Given the description of an element on the screen output the (x, y) to click on. 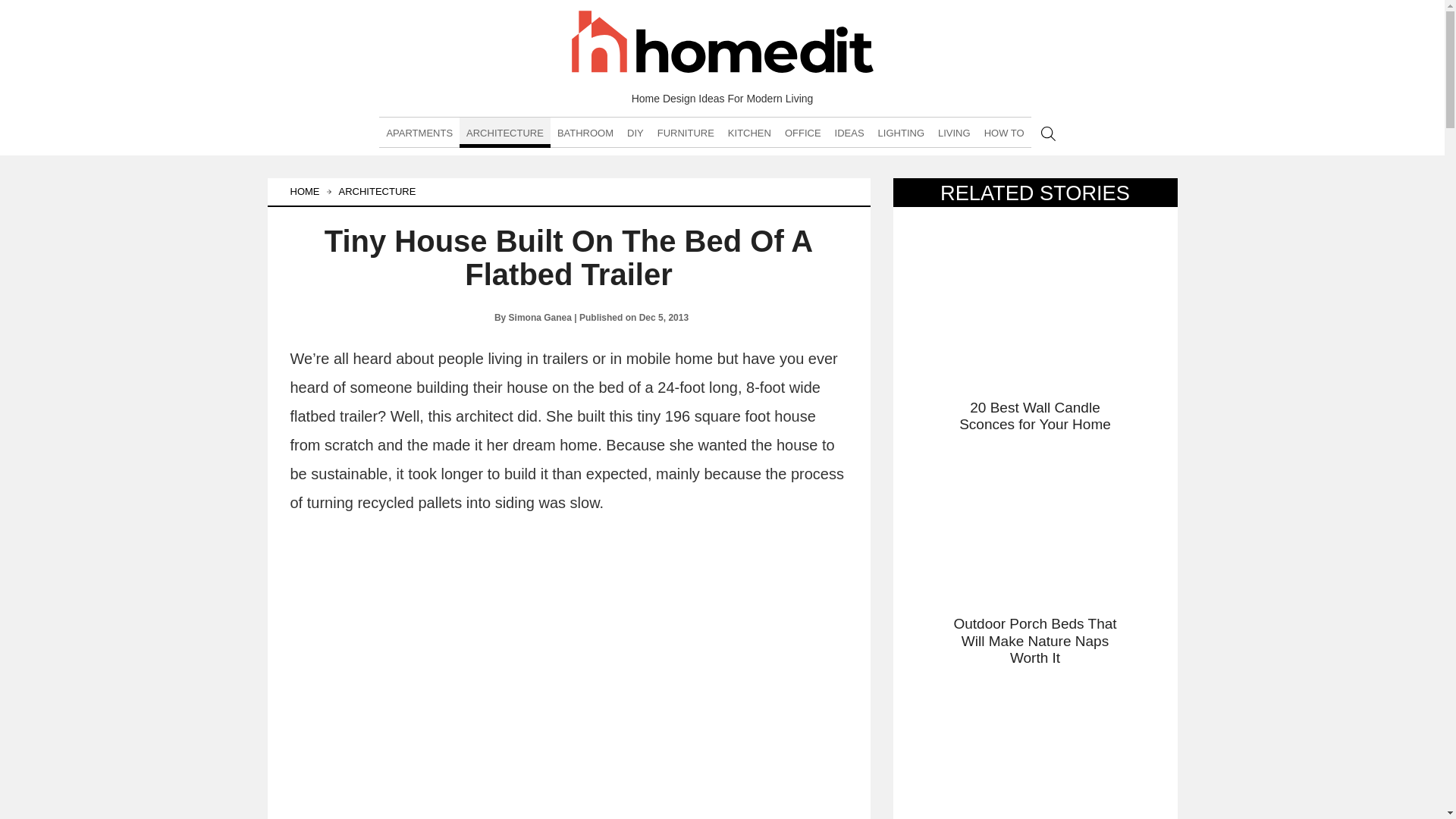
LIVING (953, 132)
LIGHTING (900, 132)
Simona Ganea (540, 317)
20 Best Wall Candle Sconces for Your Home (1035, 327)
HOW TO (1003, 132)
ARCHITECTURE (505, 132)
IDEAS (849, 132)
Homedit (721, 44)
20 Best Wall Candle Sconces for Your Home (1035, 327)
Search (1047, 133)
